Given the description of an element on the screen output the (x, y) to click on. 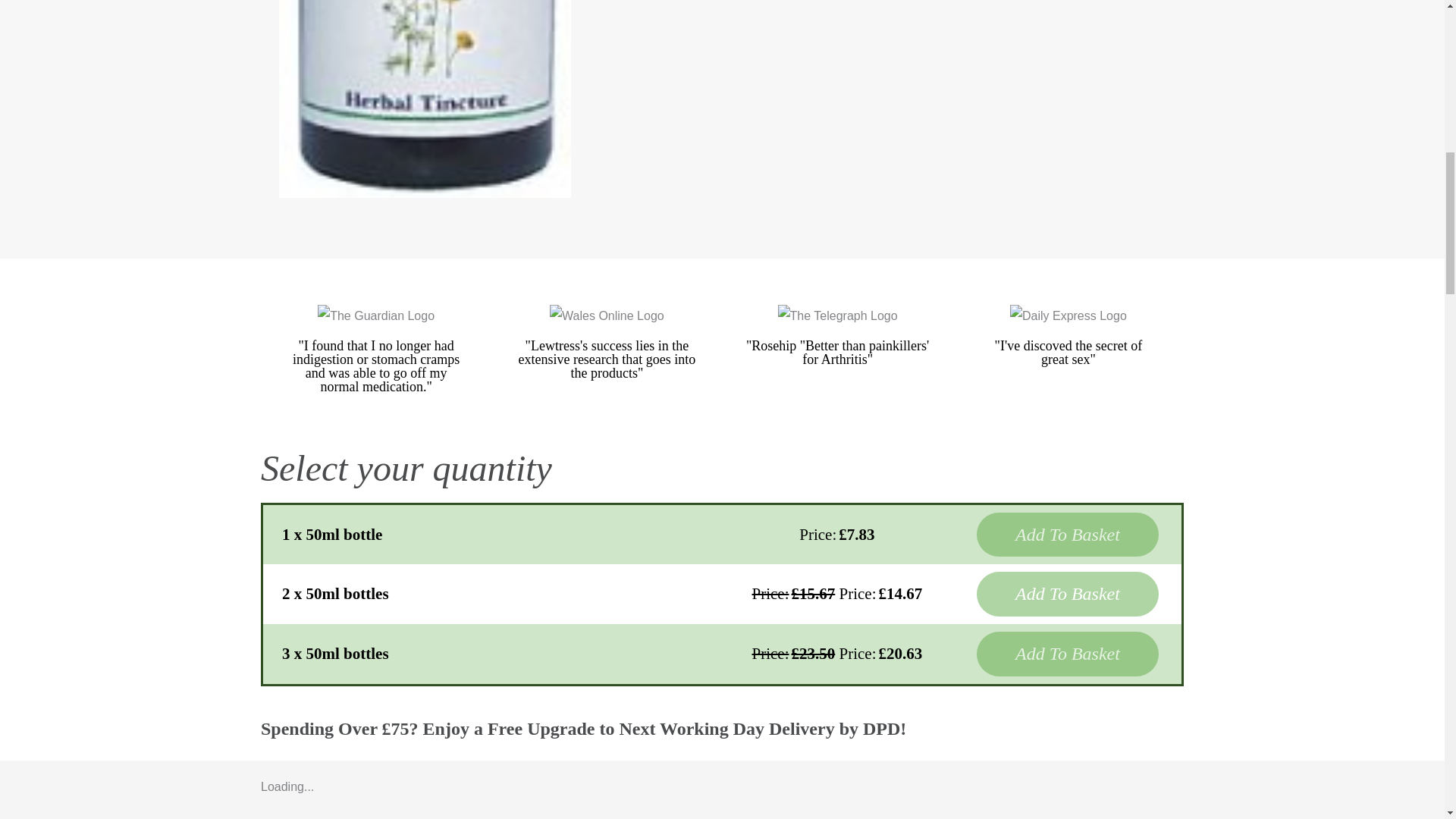
Daily Express Logo (1068, 315)
The Guardian Logo (375, 315)
The Telegraph Logo (837, 315)
Lewtress Chamomile (424, 99)
Wales Online Logo (606, 315)
